Given the description of an element on the screen output the (x, y) to click on. 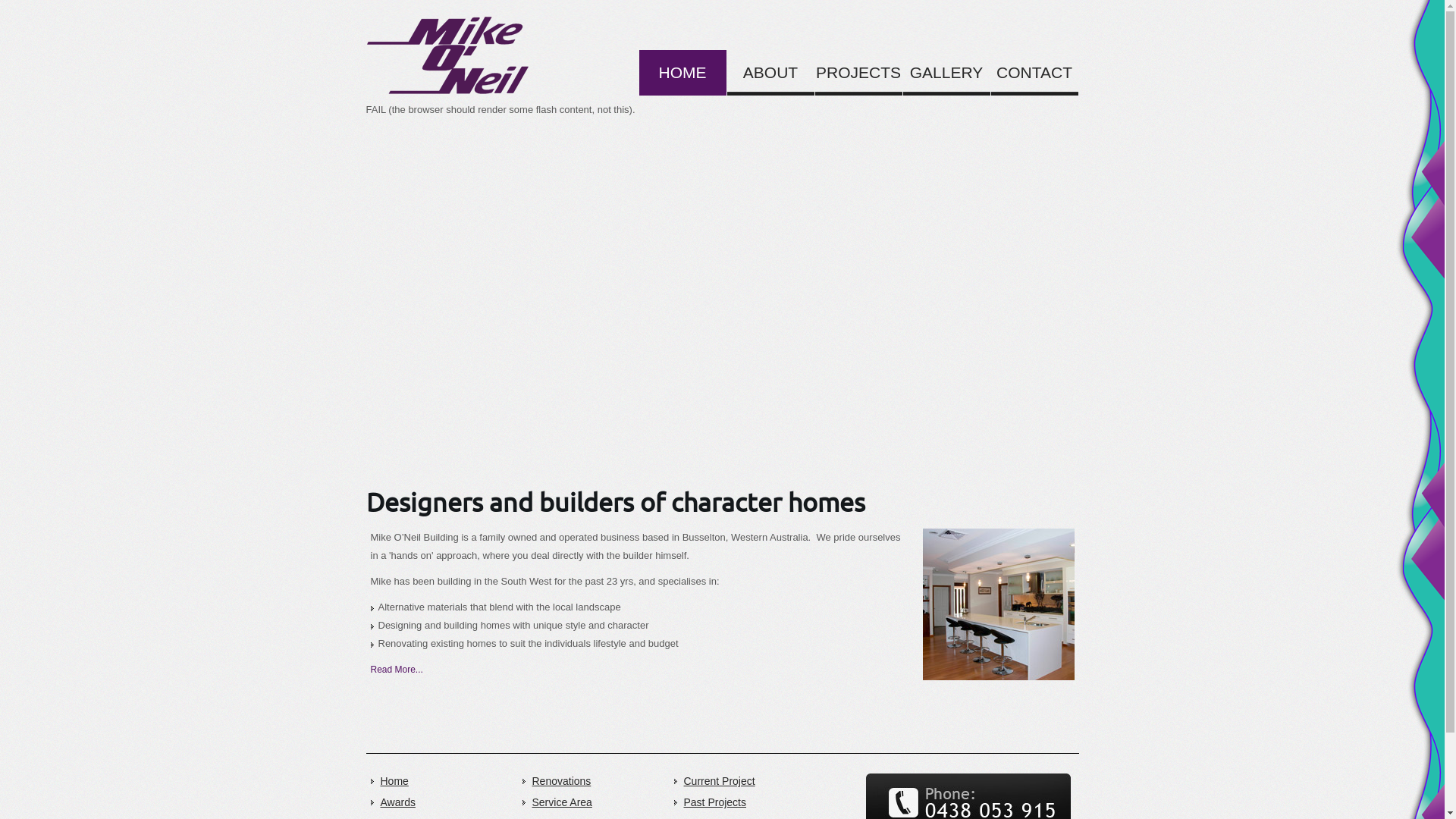
ABOUT Element type: text (769, 72)
Current Project Element type: text (744, 780)
Renovations Element type: text (592, 780)
Service Area Element type: text (592, 801)
Home Element type: text (441, 780)
CONTACT Element type: text (1033, 72)
Read More... Element type: text (396, 669)
HOME Element type: text (681, 72)
GALLERY Element type: text (945, 72)
Awards Element type: text (441, 801)
PROJECTS Element type: text (857, 72)
Past Projects Element type: text (744, 801)
Home Element type: hover (447, 56)
